Given the description of an element on the screen output the (x, y) to click on. 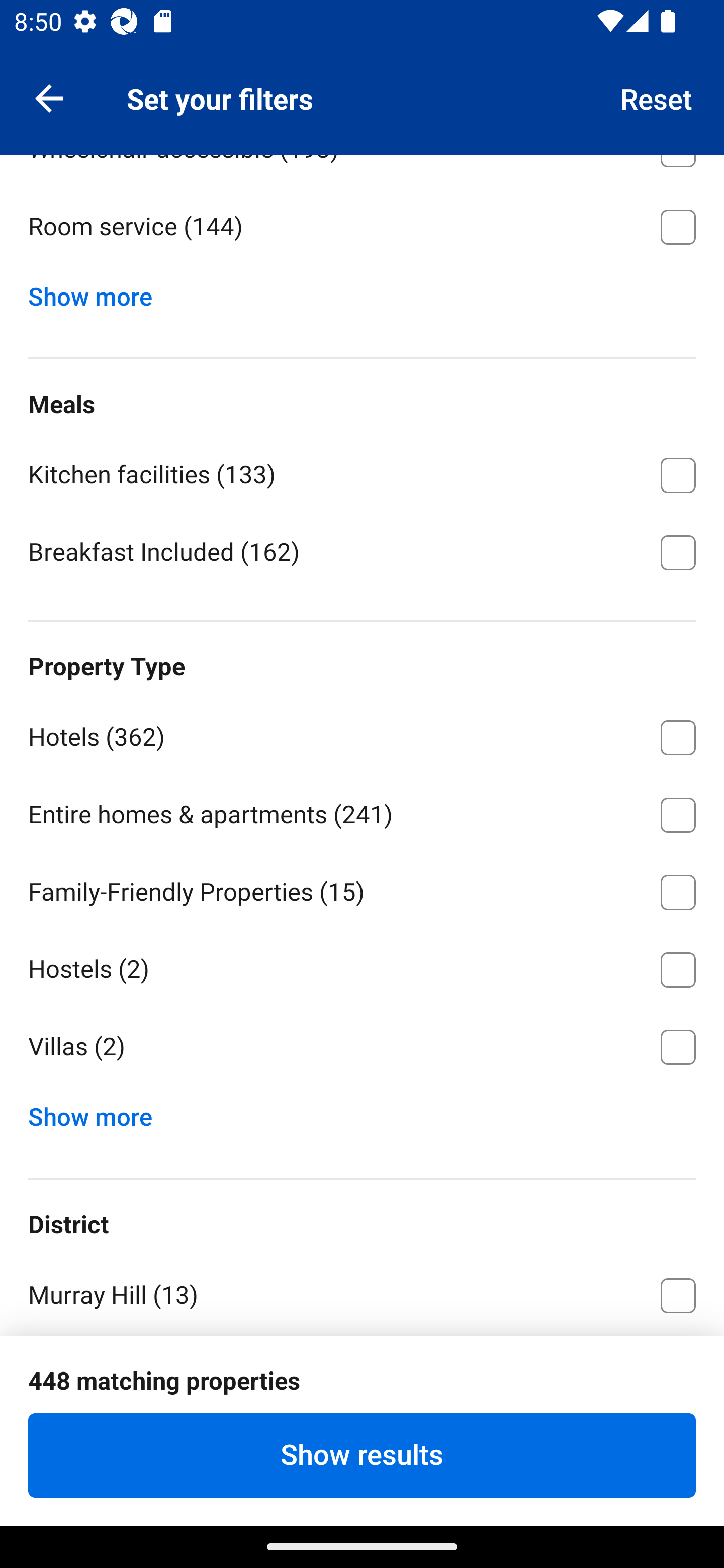
Navigate up (49, 97)
Reset (656, 97)
Room service ⁦(144) (361, 227)
Show more (97, 292)
Kitchen facilities ⁦(133) (361, 471)
Breakfast Included ⁦(162) (361, 551)
Hotels ⁦(362) (361, 734)
Entire homes & apartments ⁦(241) (361, 811)
Family-Friendly Properties ⁦(15) (361, 888)
Hostels ⁦(2) (361, 966)
Villas ⁦(2) (361, 1047)
Show more (97, 1112)
Murray Hill ⁦(13) (361, 1291)
Show results (361, 1454)
